Given the description of an element on the screen output the (x, y) to click on. 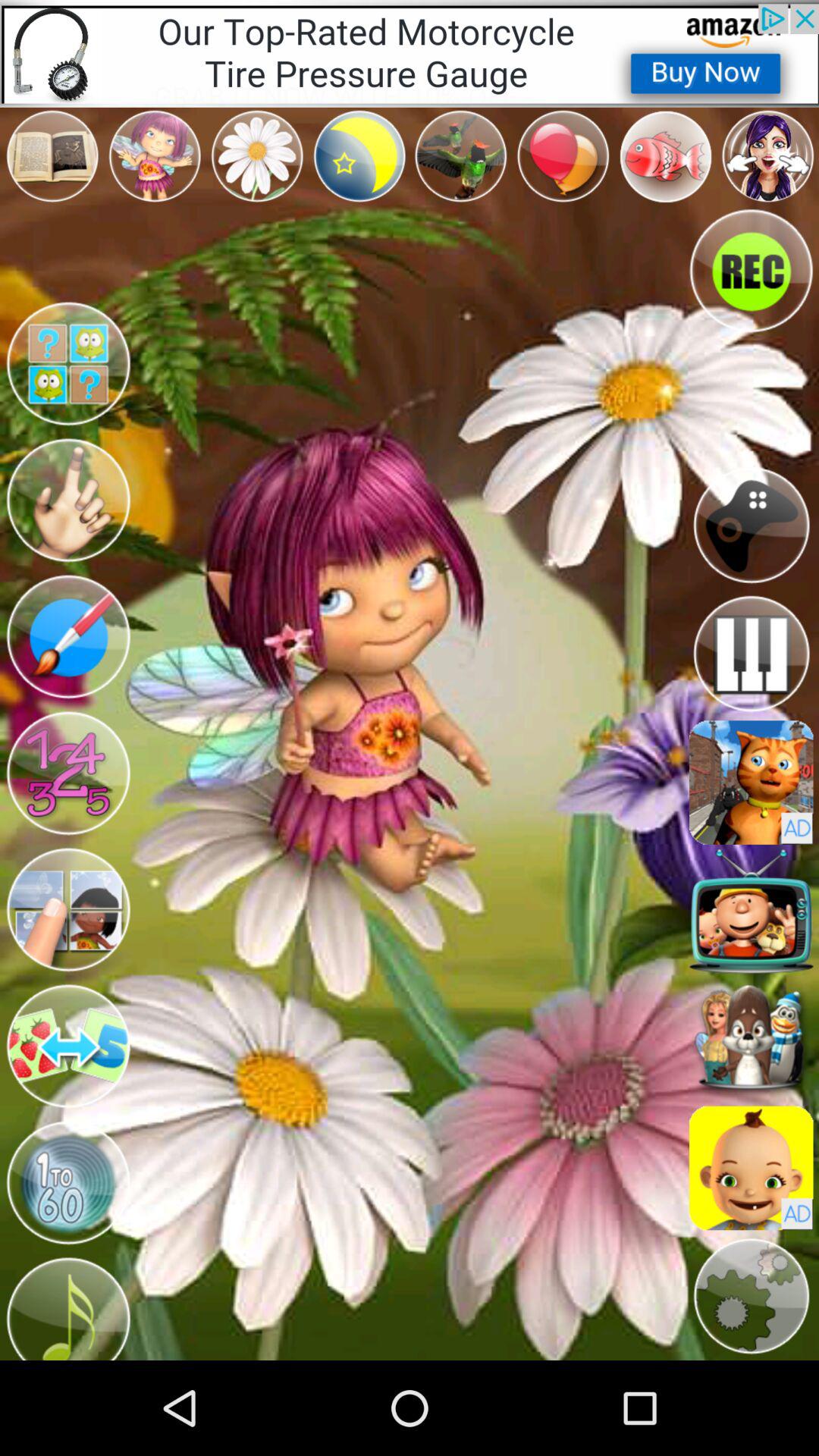
icon selection (751, 1039)
